Given the description of an element on the screen output the (x, y) to click on. 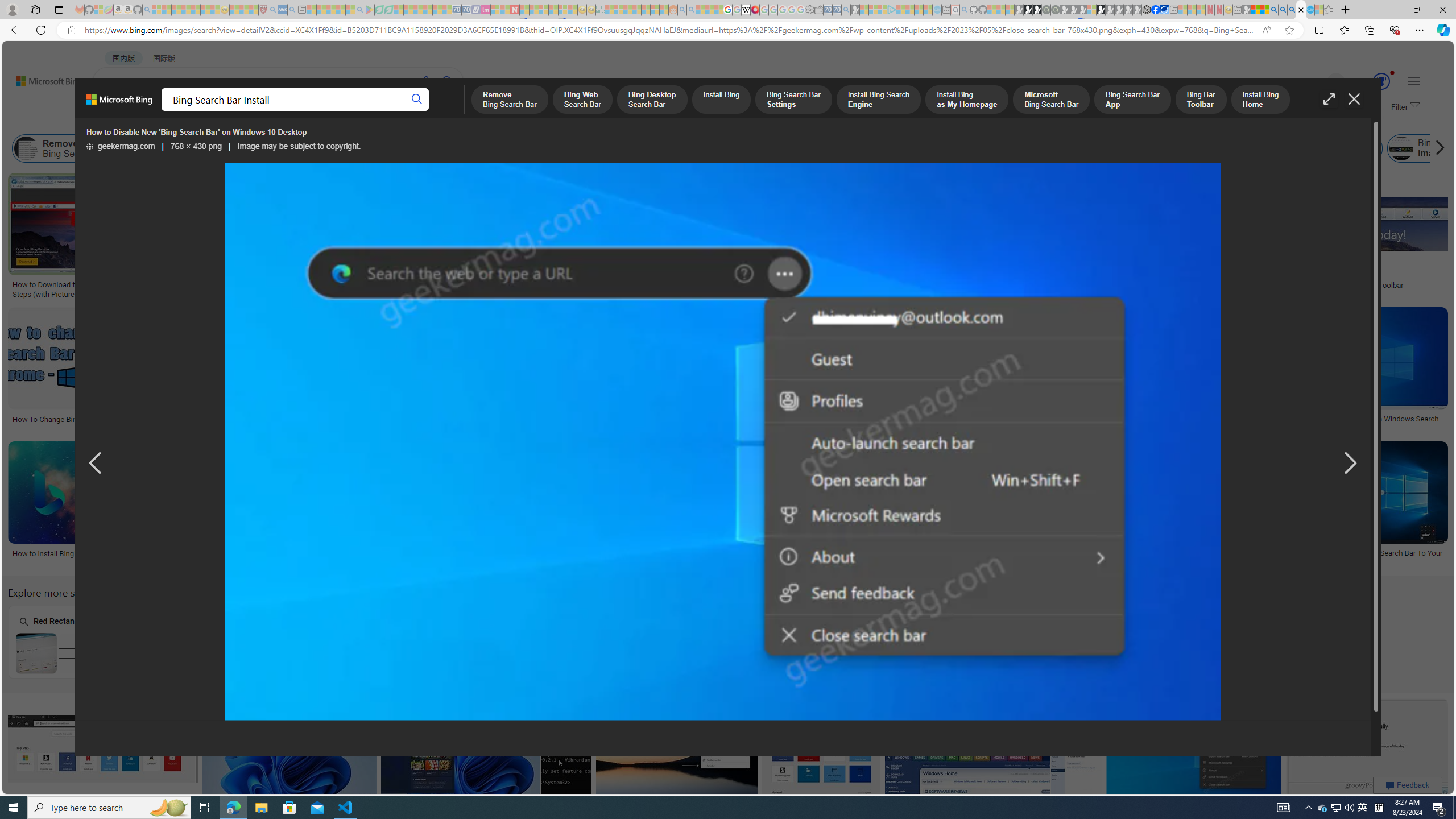
Bing Stickers (704, 280)
Full screen (1328, 99)
Bing Menu Bar (1339, 148)
AutomationID: rh_meter (1381, 80)
WEB (114, 111)
Bing Bar Toolbar (1047, 148)
Bing Menu Bar (1312, 148)
Next image result (1349, 463)
